Given the description of an element on the screen output the (x, y) to click on. 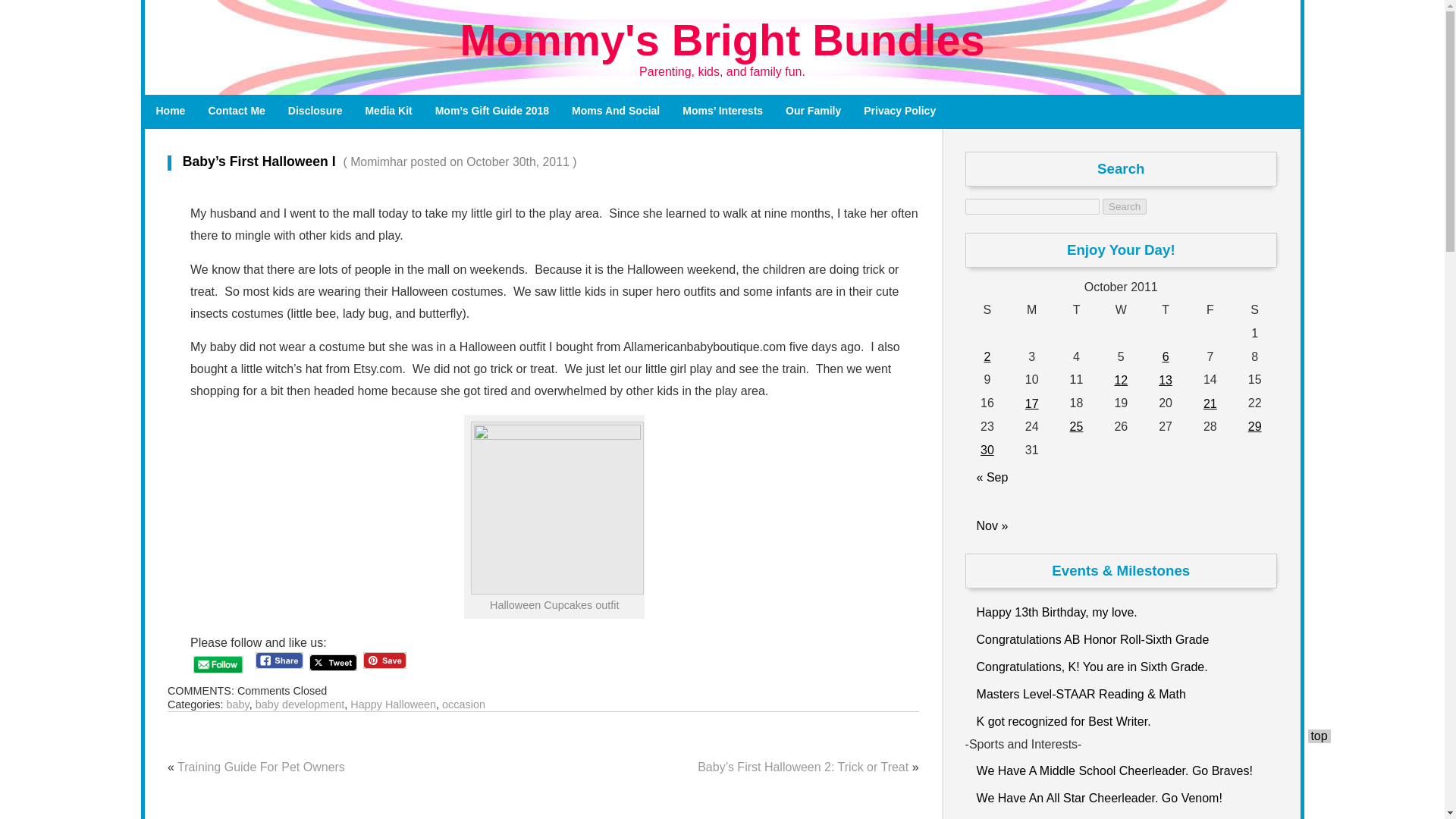
21 (1209, 403)
Search (1124, 206)
Happy 13th Birthday, my love. (1120, 610)
Thursday (1165, 310)
Sunday (987, 310)
Tuesday (1076, 310)
Home (170, 111)
30 (987, 450)
baby development (300, 704)
Contact Me (236, 111)
Congratulations AB Honor Roll-Sixth Grade (1120, 637)
13 (1166, 380)
Privacy Policy (899, 111)
We Have A Middle School Cheerleader. Go Braves! (1120, 768)
Moms And Social (615, 111)
